Given the description of an element on the screen output the (x, y) to click on. 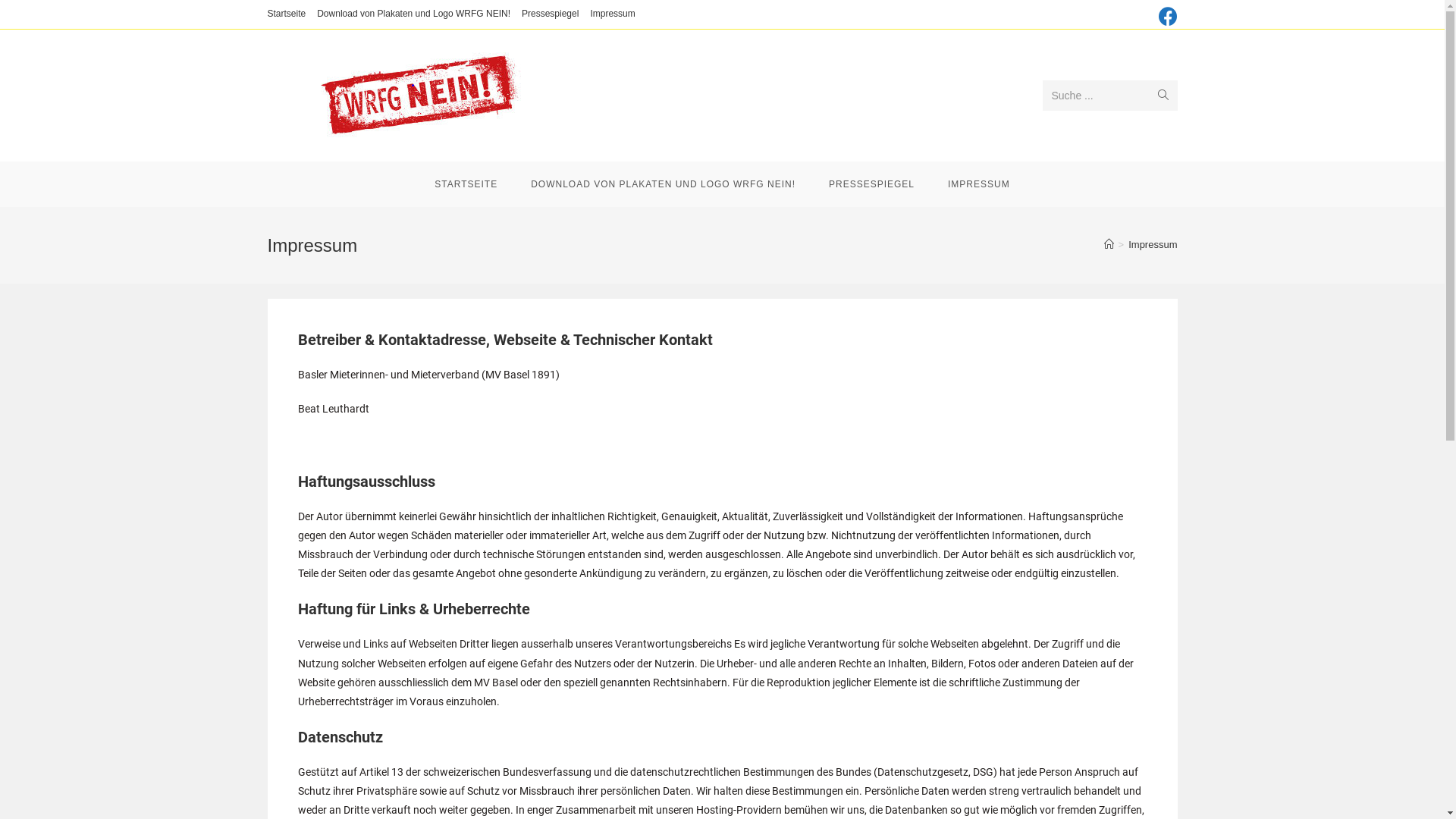
DOWNLOAD VON PLAKATEN UND LOGO WRFG NEIN! Element type: text (663, 184)
Impressum Element type: text (1152, 244)
Pressespiegel Element type: text (549, 14)
Download von Plakaten und Logo WRFG NEIN! Element type: text (413, 14)
Impressum Element type: text (611, 14)
IMPRESSUM Element type: text (978, 184)
Startseite Element type: text (285, 14)
PRESSESPIEGEL Element type: text (871, 184)
STARTSEITE Element type: text (465, 184)
